Given the description of an element on the screen output the (x, y) to click on. 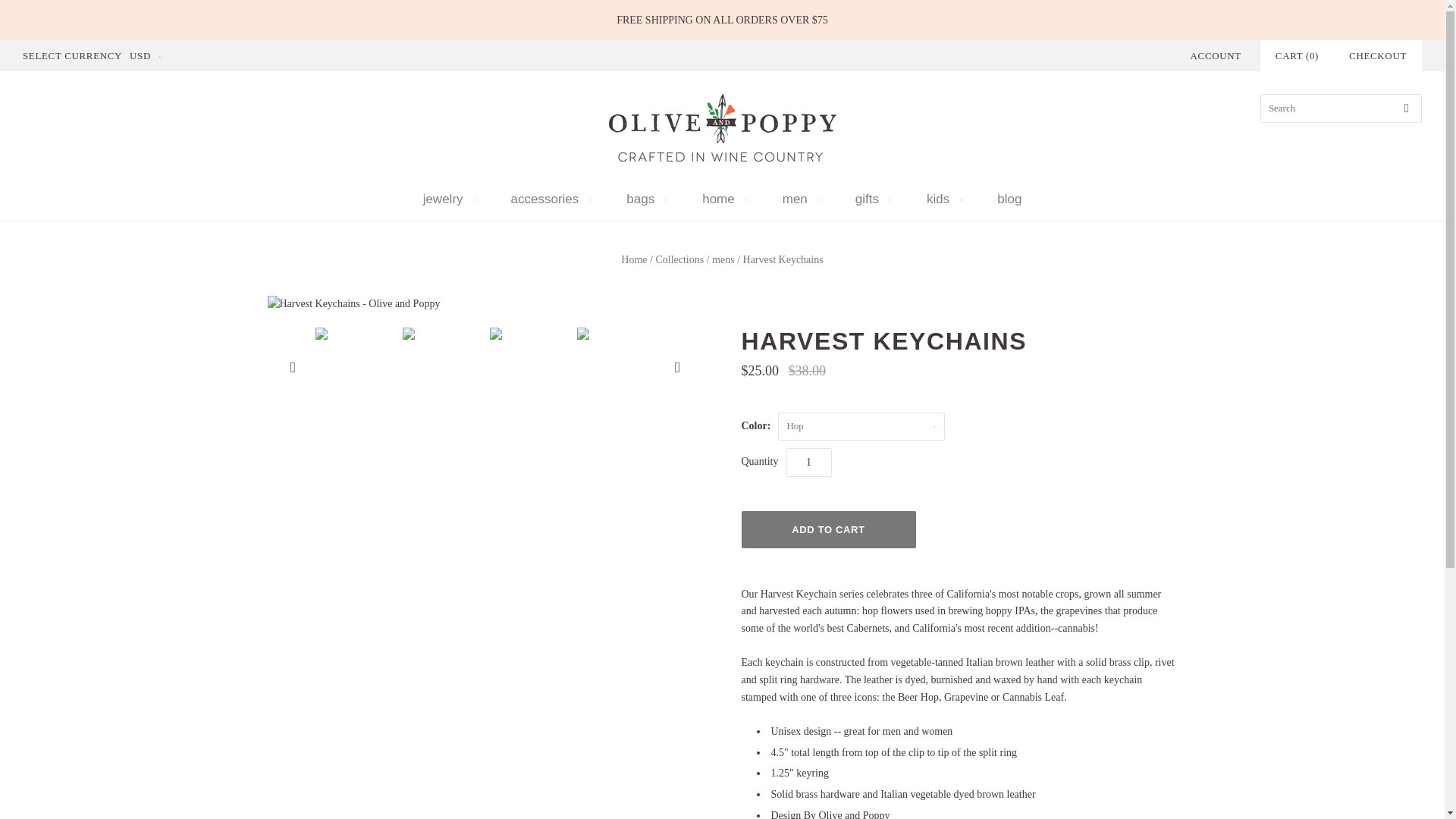
1 (808, 461)
home (722, 198)
jewelry (447, 198)
ACCOUNT (1216, 55)
bags (644, 198)
accessories (549, 198)
Add to cart (828, 529)
CHECKOUT (1377, 55)
